Given the description of an element on the screen output the (x, y) to click on. 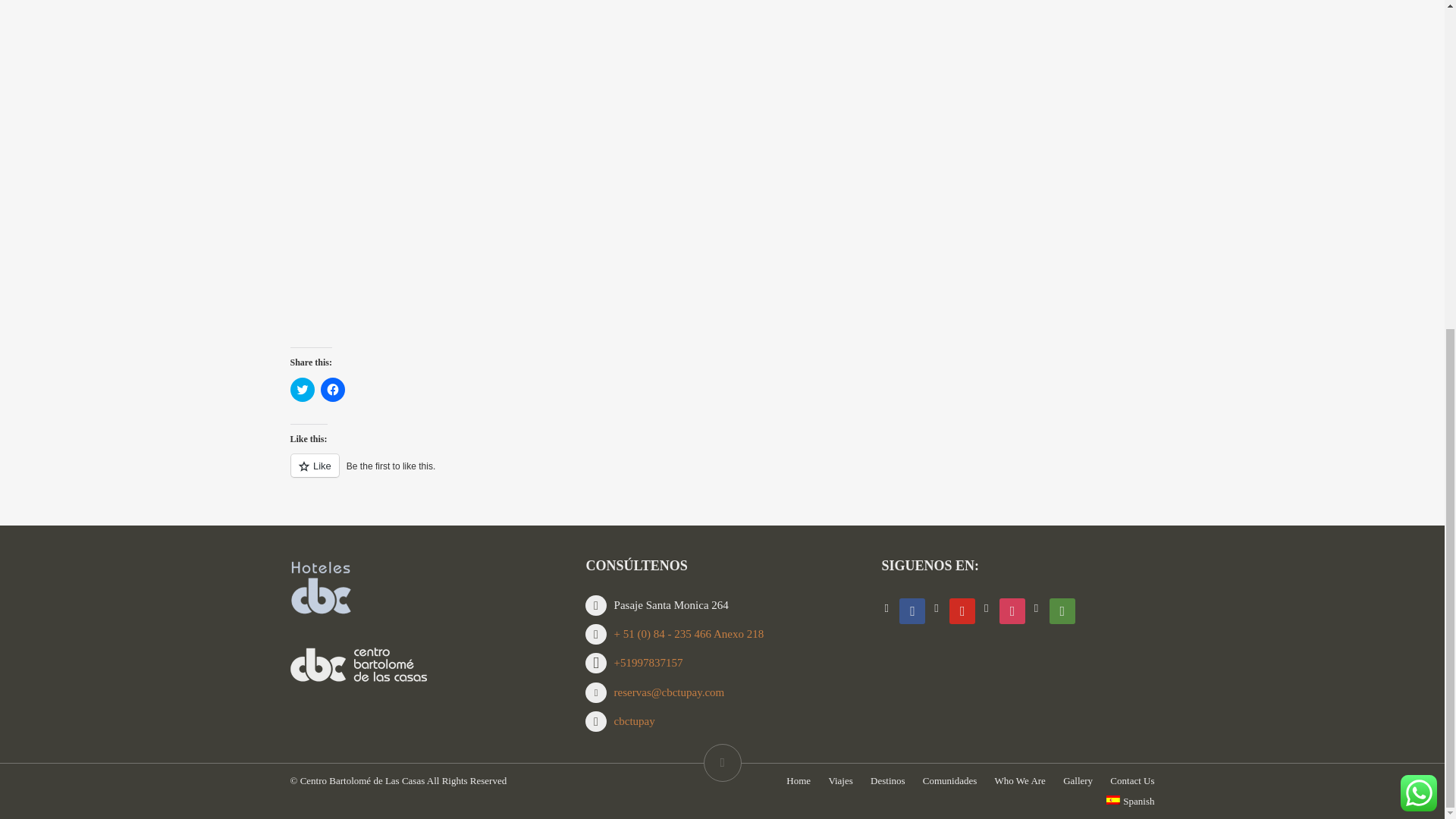
Click to share on Twitter (301, 389)
Default Label (1062, 609)
Facebook (911, 609)
Click to share on Facebook (331, 389)
Spanish (1130, 800)
Twitter (962, 609)
Like or Reblog (721, 474)
Instagram (1011, 609)
